Given the description of an element on the screen output the (x, y) to click on. 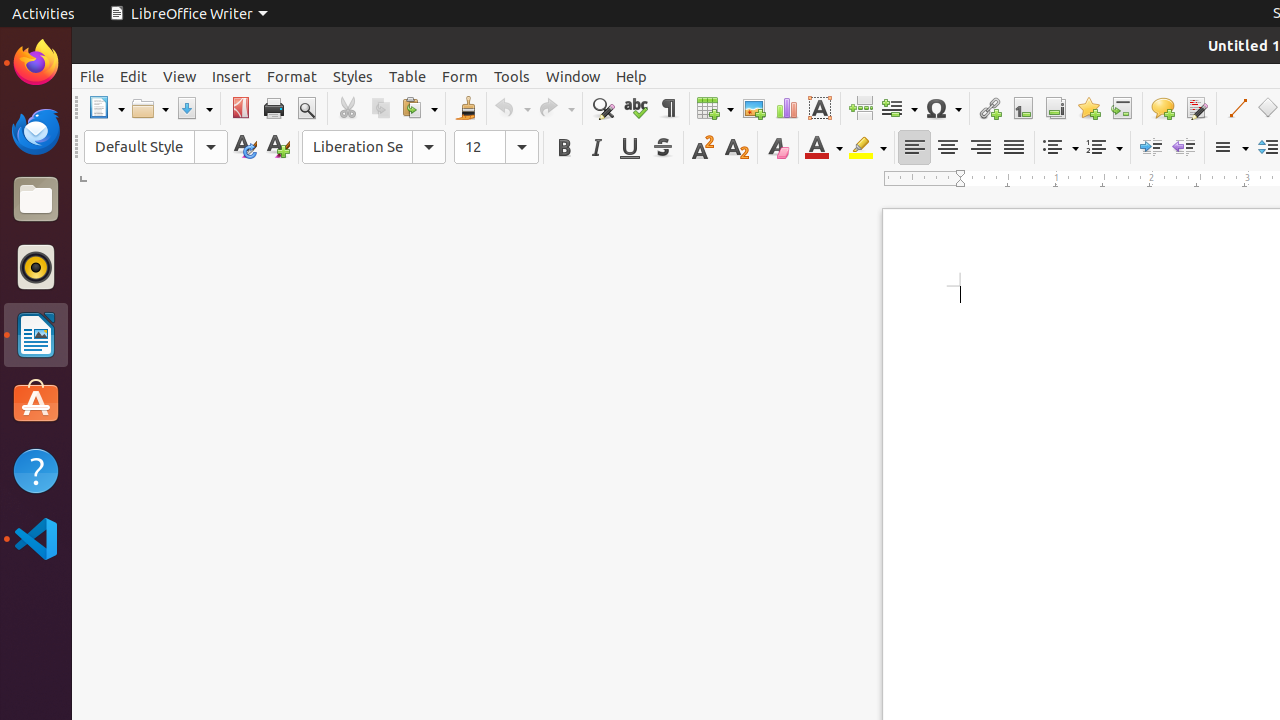
Font Name Element type: combo-box (374, 147)
Edit Element type: menu (133, 76)
Font Size Element type: combo-box (496, 147)
Copy Element type: push-button (380, 108)
Print Preview Element type: toggle-button (306, 108)
